Given the description of an element on the screen output the (x, y) to click on. 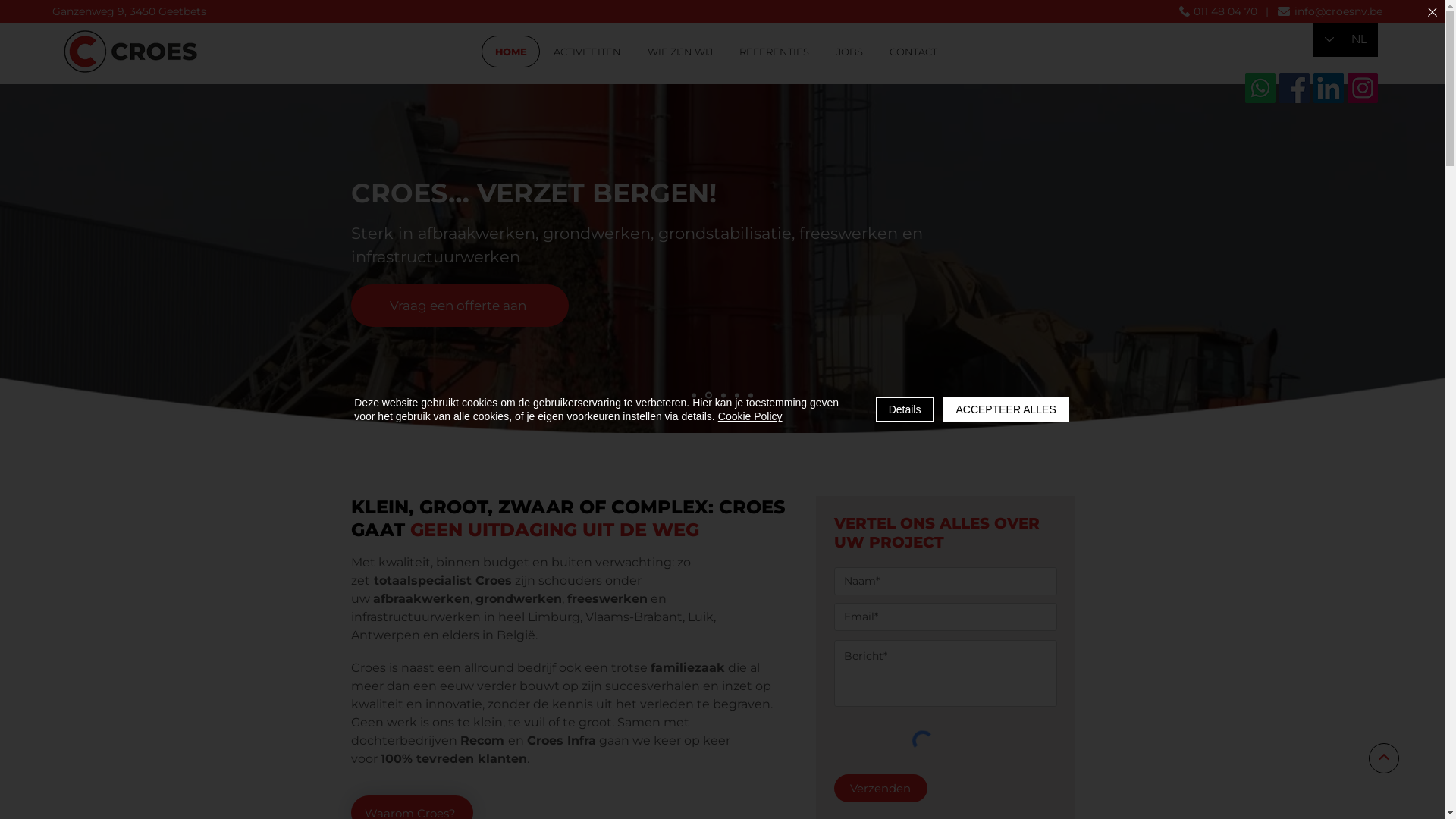
011 48 04 70 Element type: text (1225, 11)
Cookie Policy Element type: text (750, 416)
info@croesnv.be Element type: text (1338, 11)
HOME Element type: text (510, 51)
CONTACT Element type: text (912, 51)
Verzenden Element type: text (880, 788)
REFERENTIES Element type: text (774, 51)
WIE ZIJN WIJ Element type: text (680, 51)
Vraag een offerte aan Element type: text (458, 304)
ACCEPTEER ALLES Element type: text (1005, 409)
Details Element type: text (904, 409)
JOBS Element type: text (848, 51)
